Given the description of an element on the screen output the (x, y) to click on. 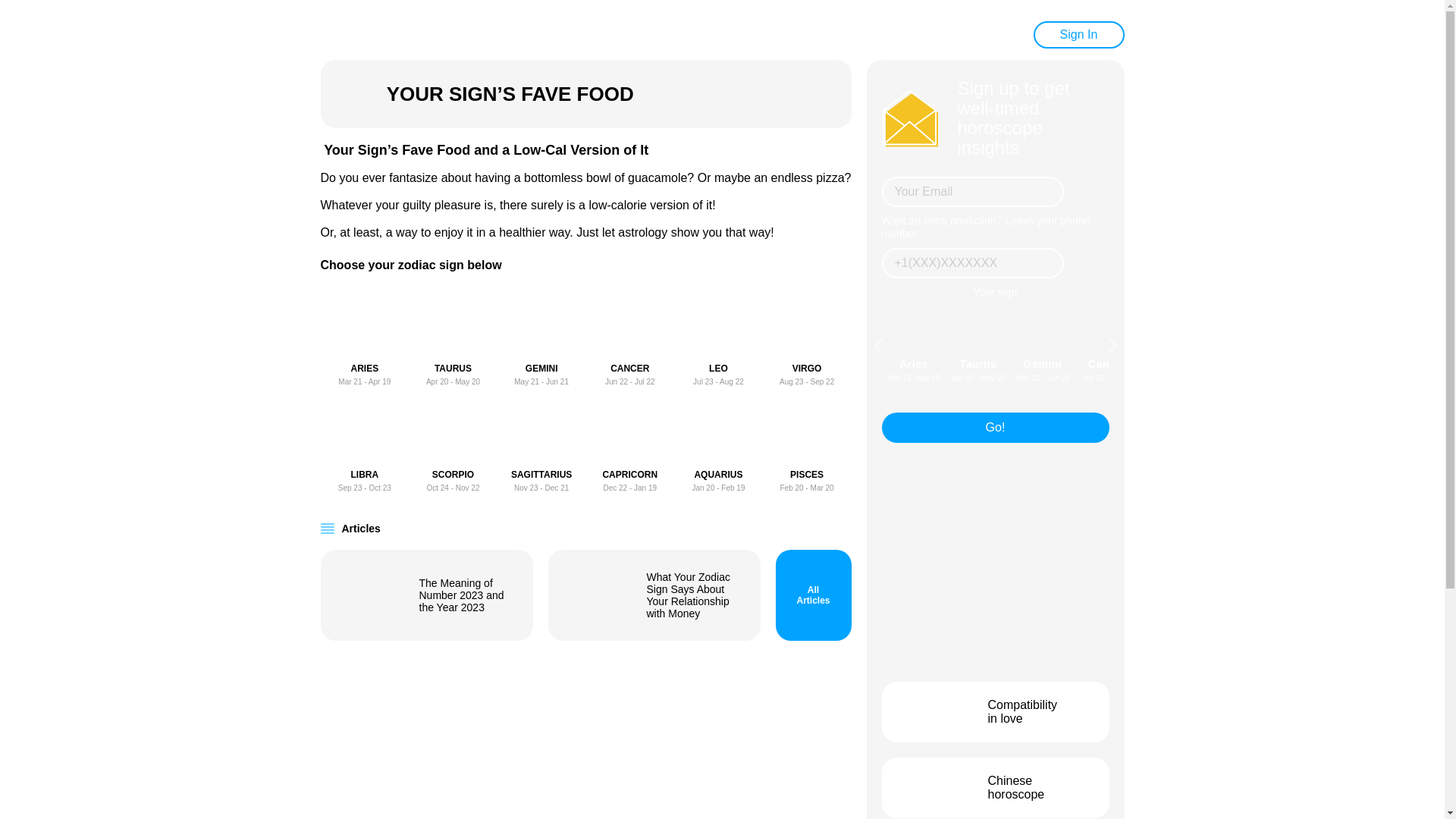
The Meaning of Number 2023 and the Year 2023 (541, 446)
Go! (426, 594)
